Given the description of an element on the screen output the (x, y) to click on. 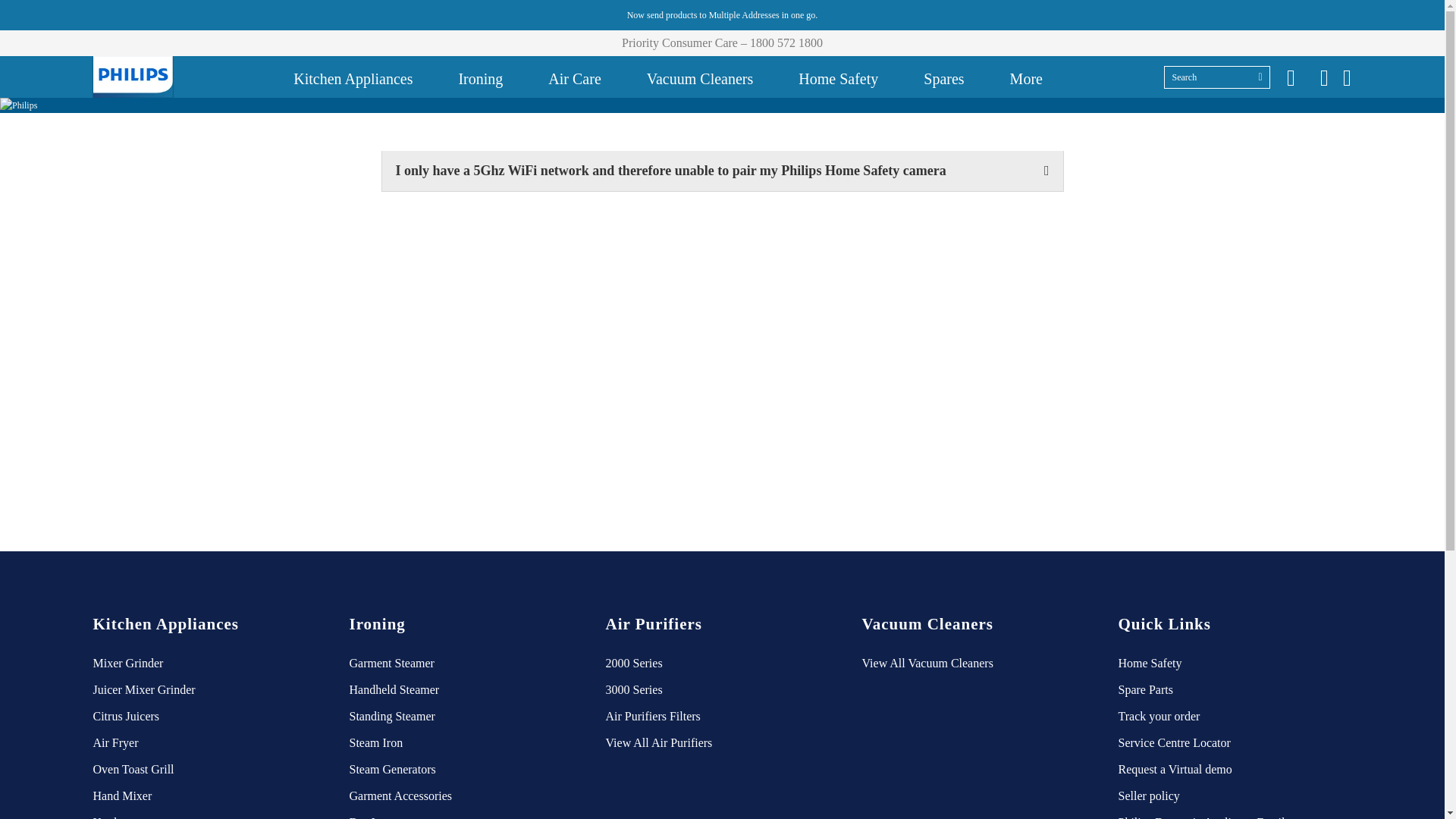
Cart (1346, 78)
My Account (1323, 78)
Kitchen Appliances (353, 76)
Now send products to Multiple Addresses in one go. (722, 15)
My Wish List (1291, 77)
Philips Domestic Appliances (132, 76)
